Given the description of an element on the screen output the (x, y) to click on. 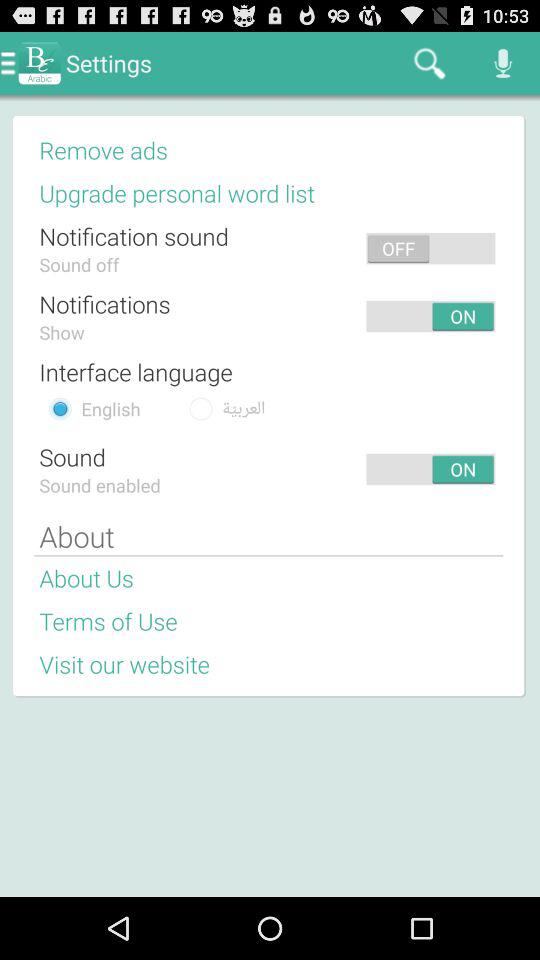
press sound enabled icon (99, 484)
